Given the description of an element on the screen output the (x, y) to click on. 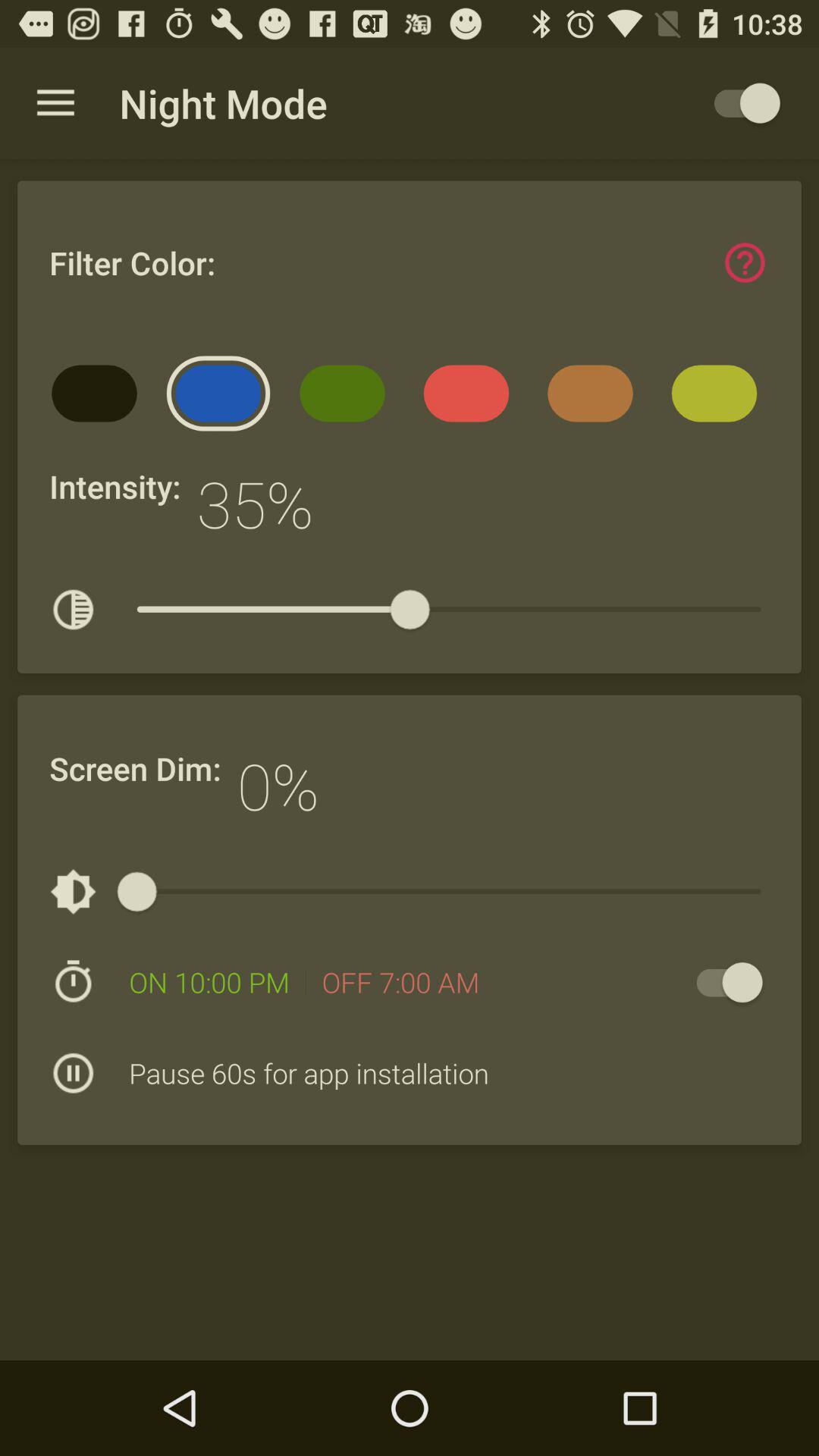
toggle night mode option (739, 103)
